Given the description of an element on the screen output the (x, y) to click on. 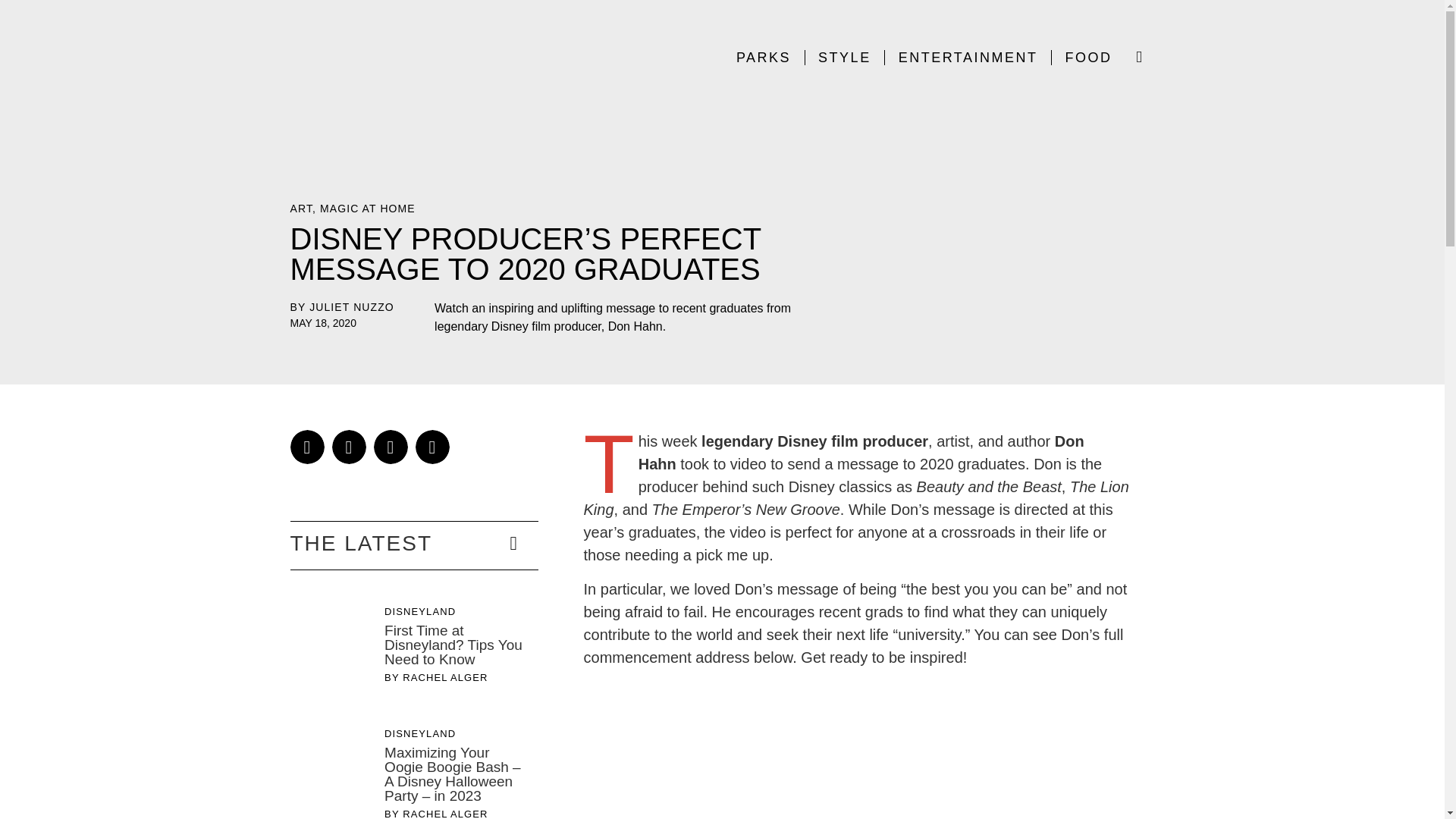
ART (301, 208)
STYLE (844, 57)
DISNEYLAND (419, 611)
ENTERTAINMENT (967, 57)
FOOD (1087, 57)
oogie boogie bash 2023 maximize your time (333, 762)
First Time at Disneyland? Tips You Need to Know (453, 644)
PARKS (763, 57)
BY RACHEL ALGER (435, 677)
BY JULIET NUZZO (341, 307)
